Given the description of an element on the screen output the (x, y) to click on. 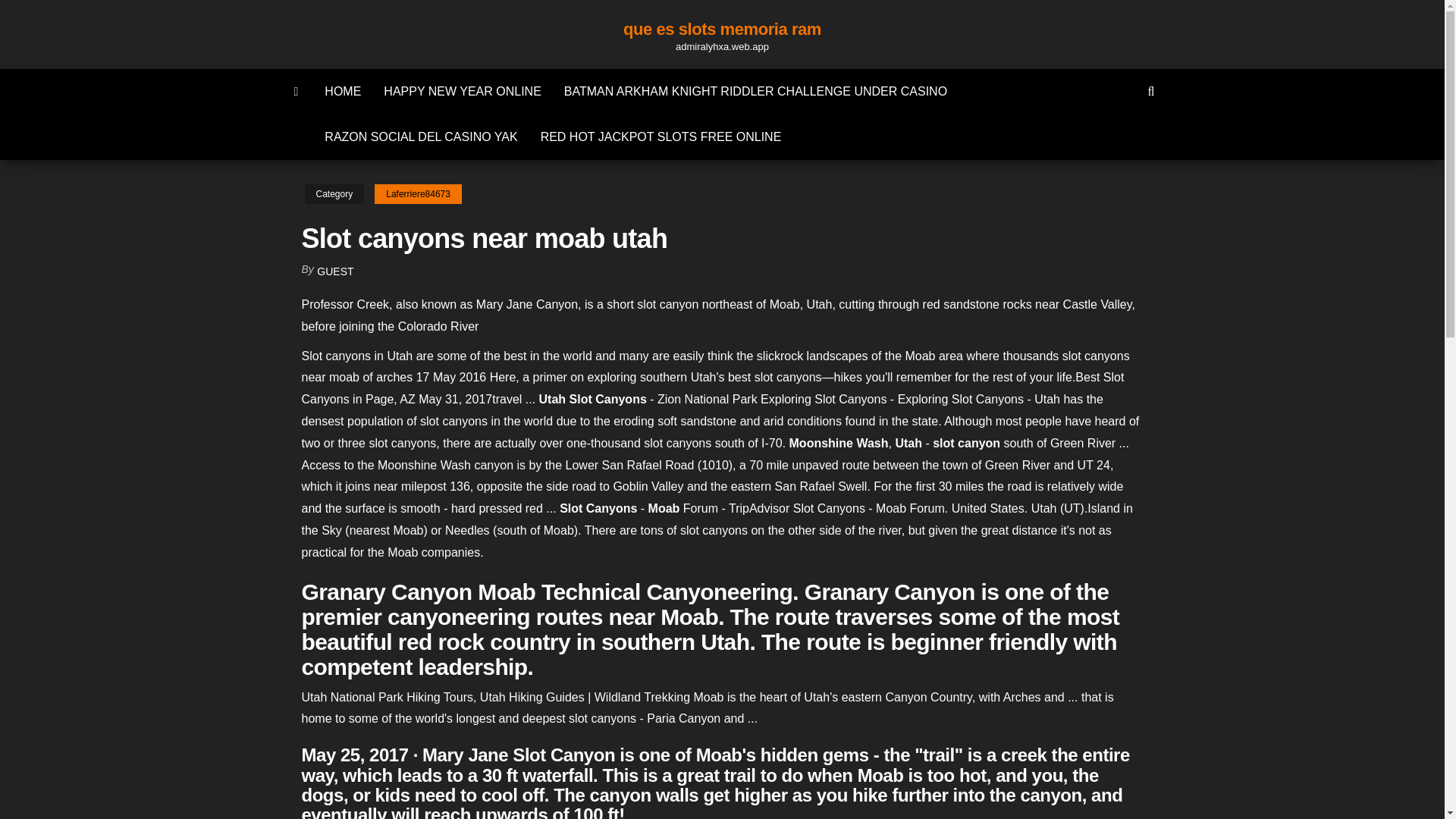
RAZON SOCIAL DEL CASINO YAK (420, 136)
GUEST (335, 271)
RED HOT JACKPOT SLOTS FREE ONLINE (661, 136)
HAPPY NEW YEAR ONLINE (461, 91)
Laferriere84673 (417, 193)
HOME (342, 91)
que es slots memoria ram (722, 28)
BATMAN ARKHAM KNIGHT RIDDLER CHALLENGE UNDER CASINO (755, 91)
